Given the description of an element on the screen output the (x, y) to click on. 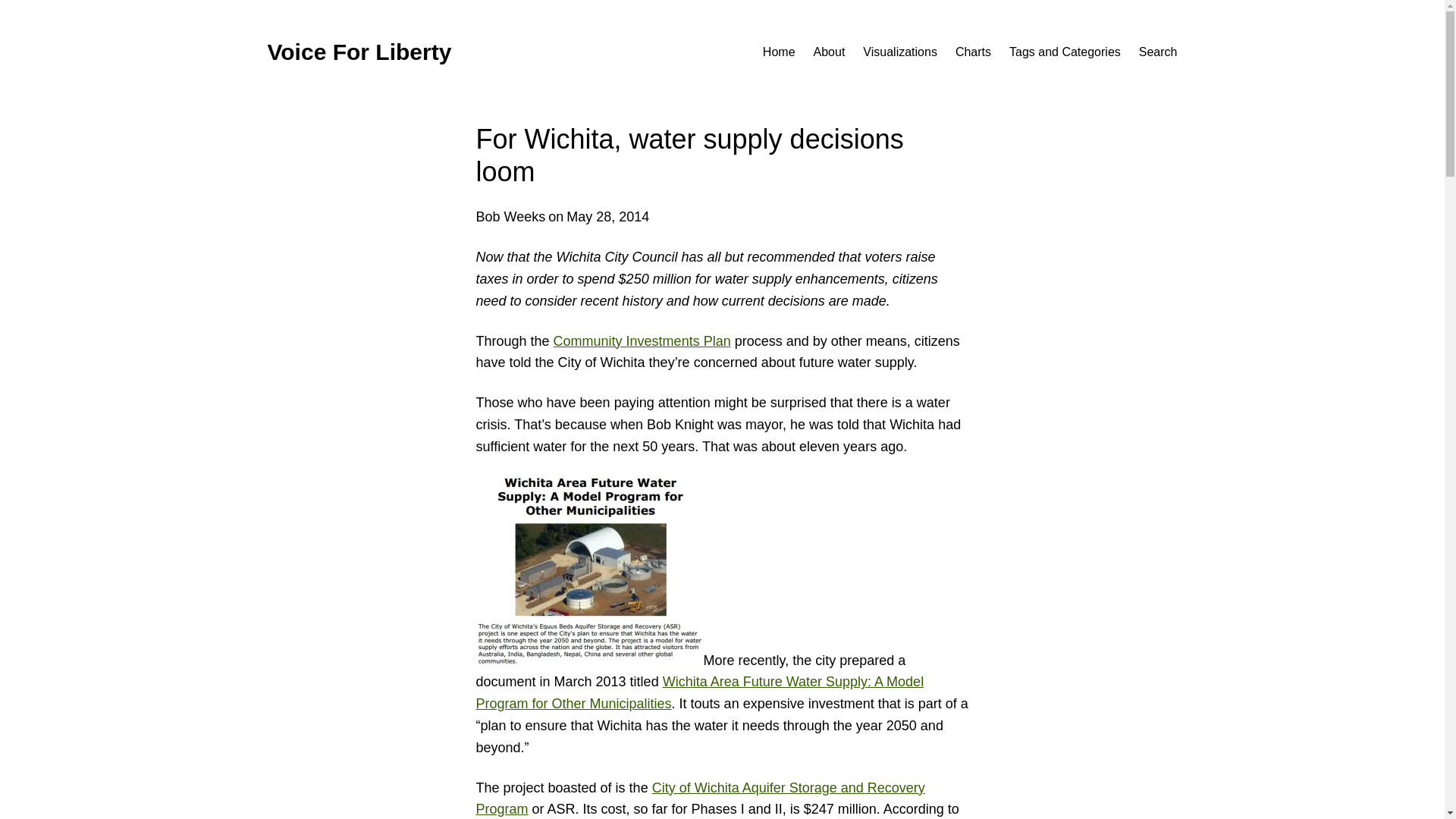
Search (1157, 52)
Community Investments Plan (641, 340)
Tags and Categories (1065, 52)
Voice For Liberty (358, 51)
Visualizations (900, 52)
Home (778, 52)
Charts (973, 52)
City of Wichita Aquifer Storage and Recovery Program (700, 798)
About (829, 52)
